Given the description of an element on the screen output the (x, y) to click on. 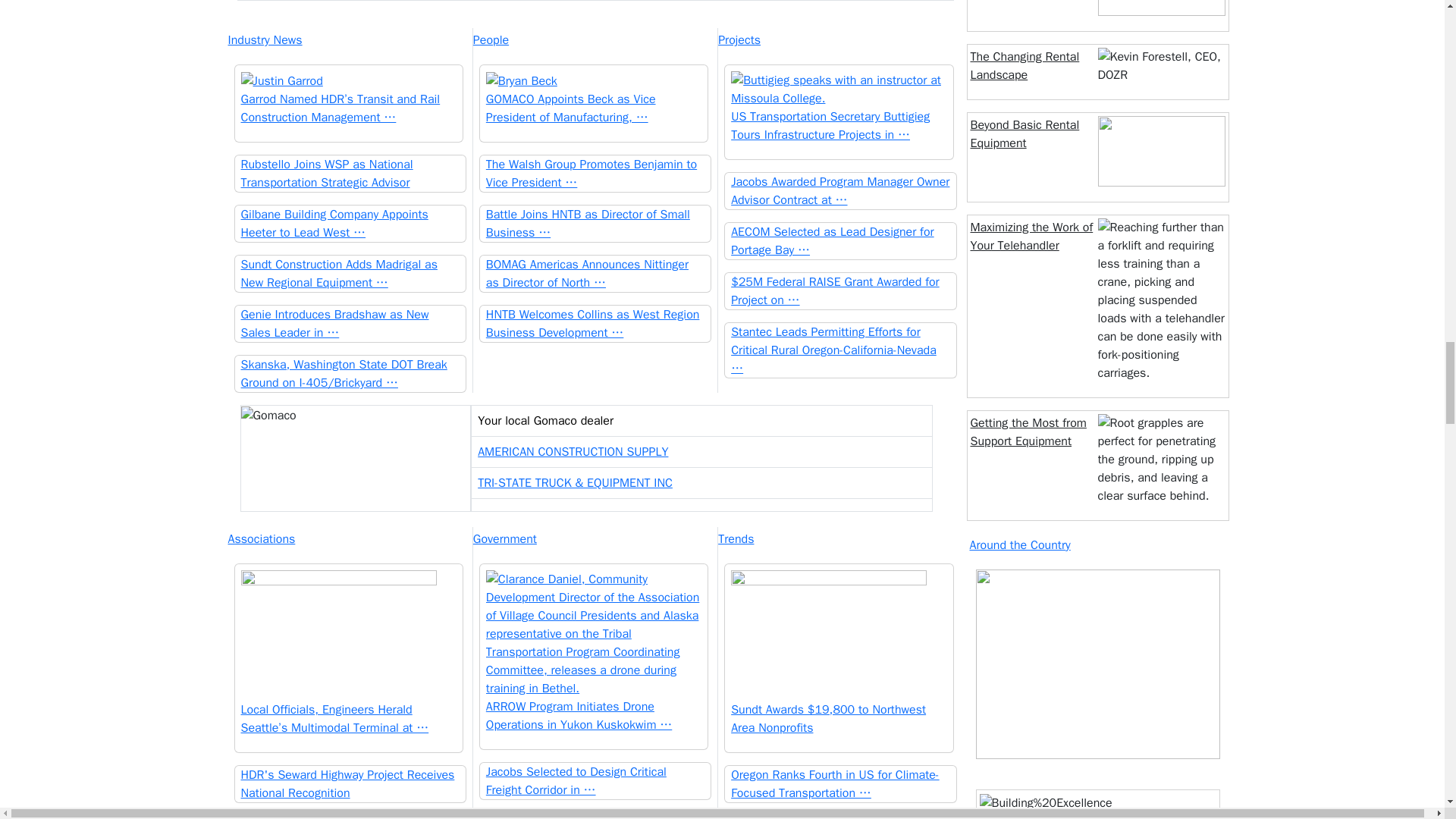
Industry News (349, 40)
